Given the description of an element on the screen output the (x, y) to click on. 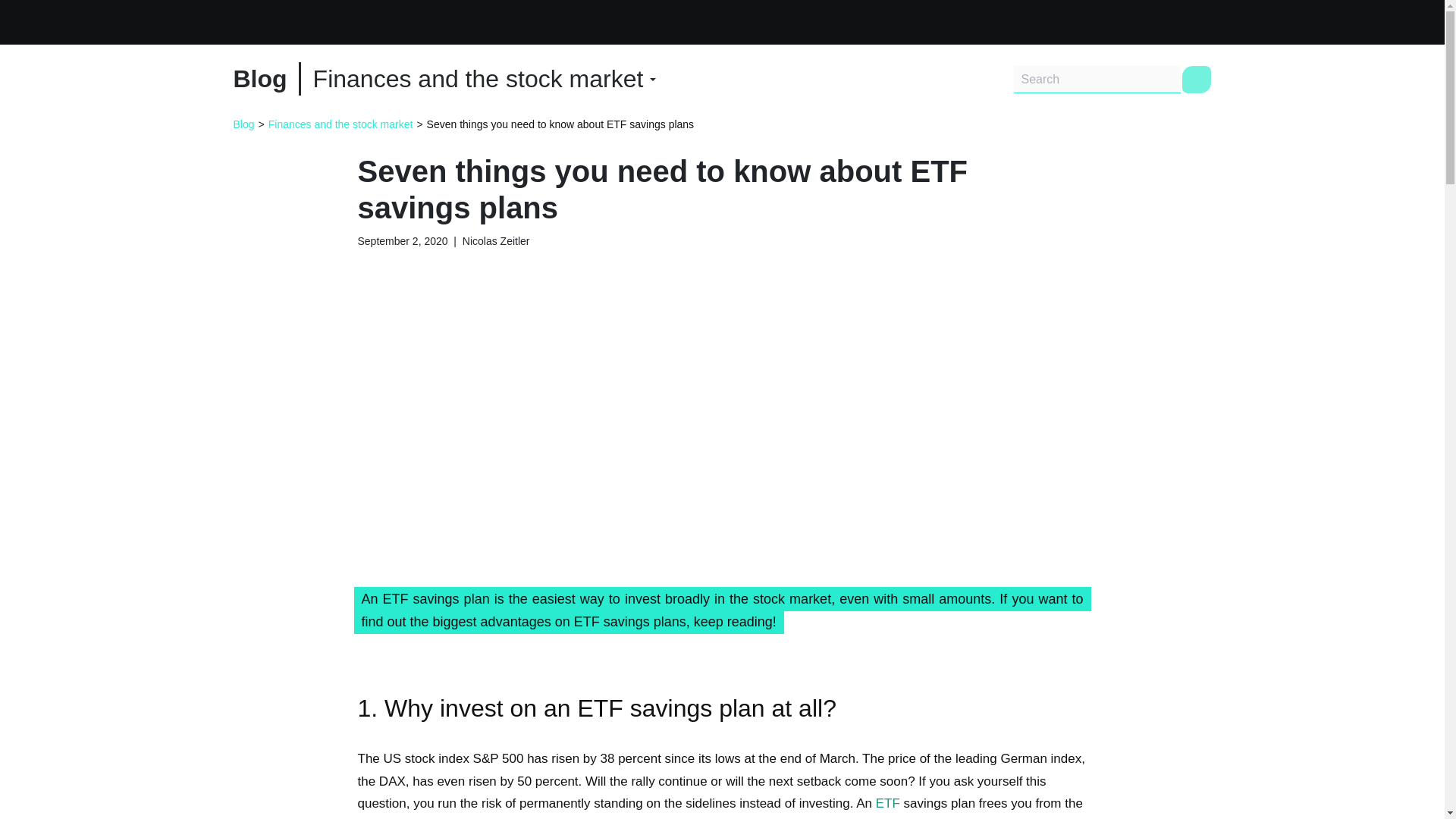
Blog (259, 78)
Finances and the stock market (340, 123)
What is an ETF? (887, 803)
Blog (243, 123)
Seven things you need to know about ETF savings plans (560, 123)
Finances and the stock market (484, 78)
